Given the description of an element on the screen output the (x, y) to click on. 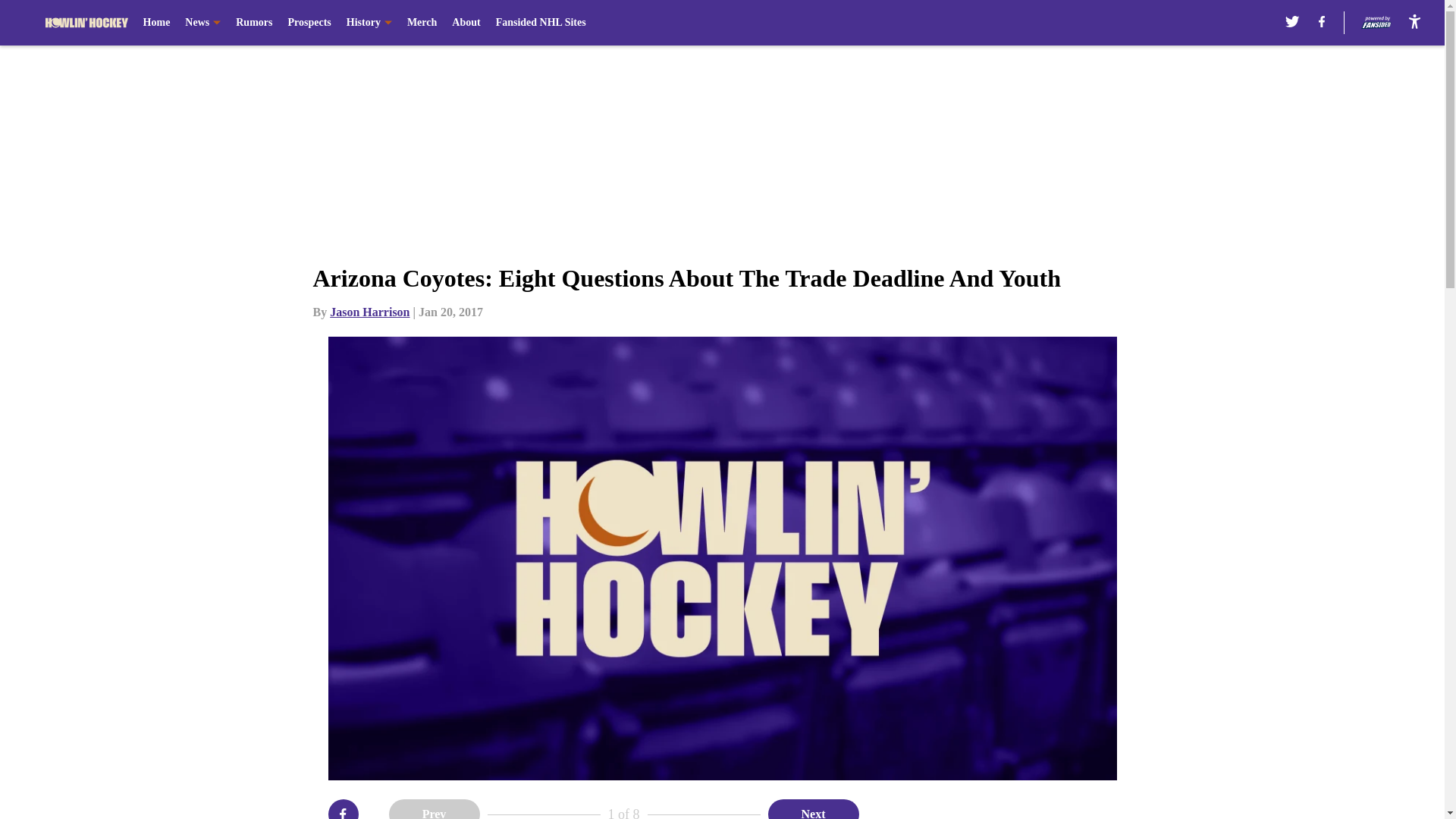
Next (813, 809)
Home (156, 22)
Rumors (253, 22)
Merch (421, 22)
About (465, 22)
Fansided NHL Sites (541, 22)
Jason Harrison (369, 311)
Prev (433, 809)
Prospects (308, 22)
